Given the description of an element on the screen output the (x, y) to click on. 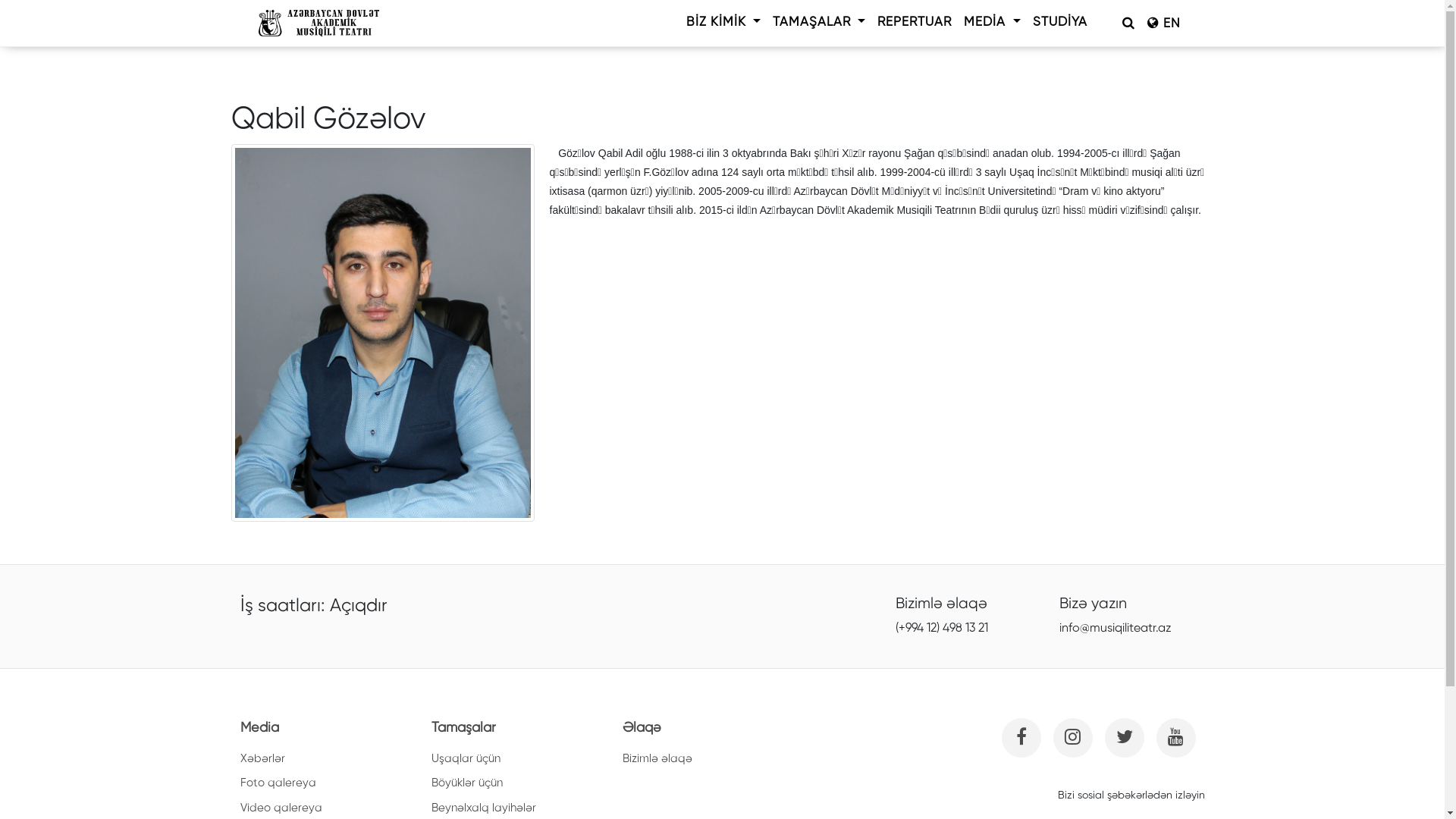
Foto qalereya Element type: text (277, 782)
EN Element type: text (1163, 23)
REPERTUAR Element type: text (914, 22)
Video qalereya Element type: text (280, 807)
